Given the description of an element on the screen output the (x, y) to click on. 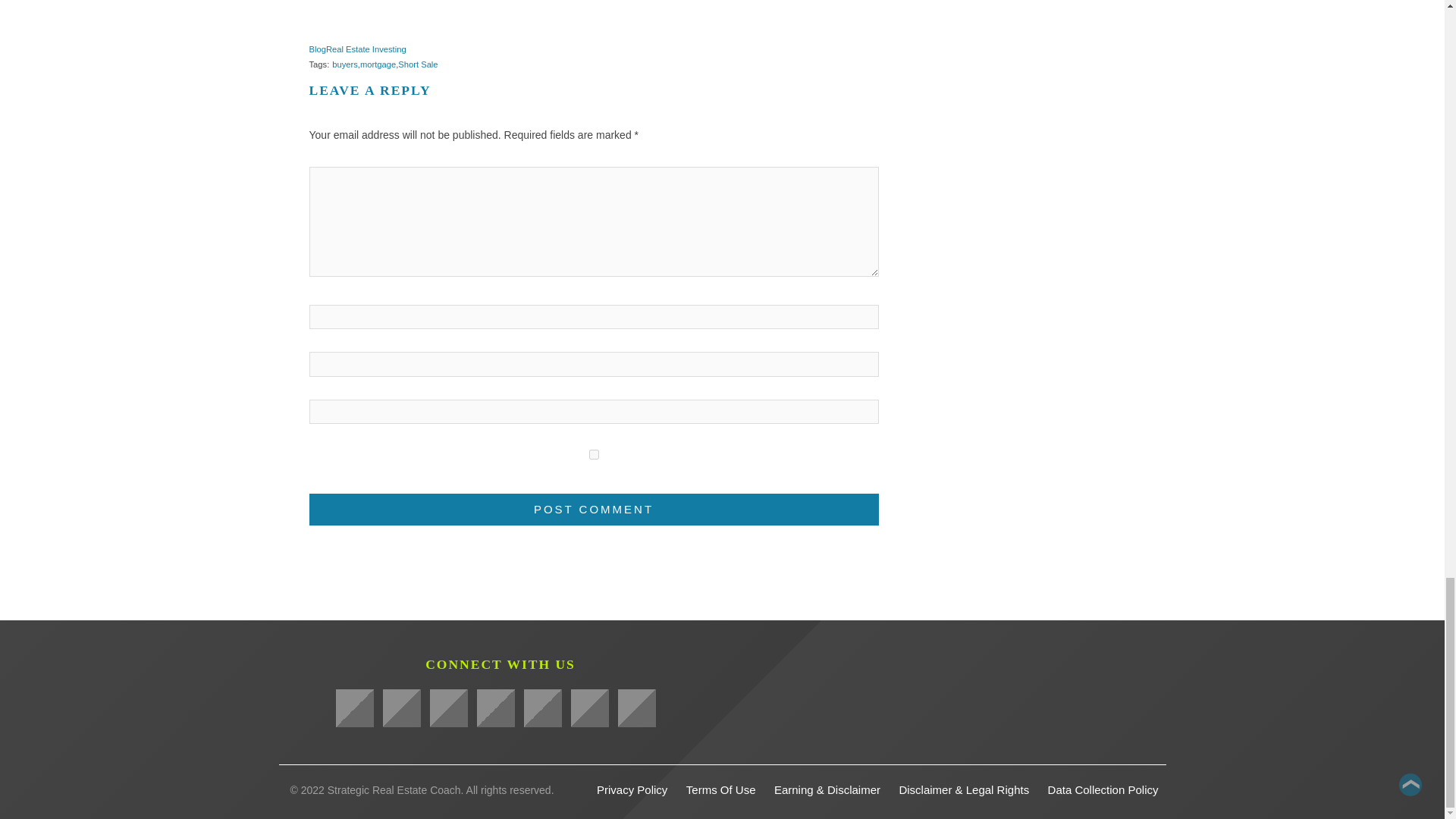
buyers (344, 63)
Blog (317, 49)
mortgage (377, 63)
yes (593, 454)
Real Estate Investing (366, 49)
Post Comment (593, 509)
Post Comment (593, 509)
Short Sale (417, 63)
